Given the description of an element on the screen output the (x, y) to click on. 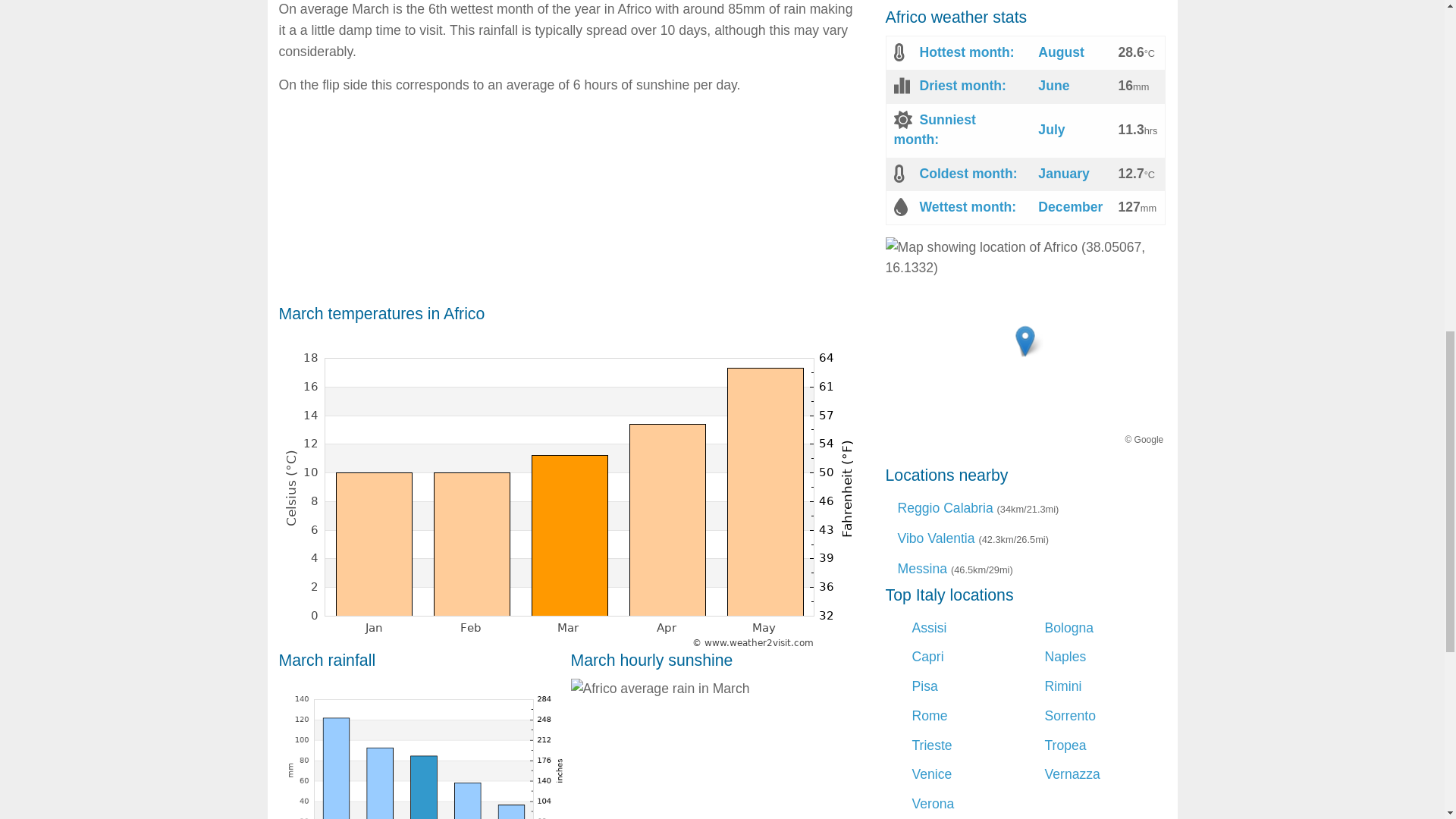
August (1061, 52)
July (1051, 129)
Hottest month: (965, 52)
June (1053, 85)
Coldest month: (967, 173)
Driest month: (962, 85)
Sunniest month: (934, 129)
